Given the description of an element on the screen output the (x, y) to click on. 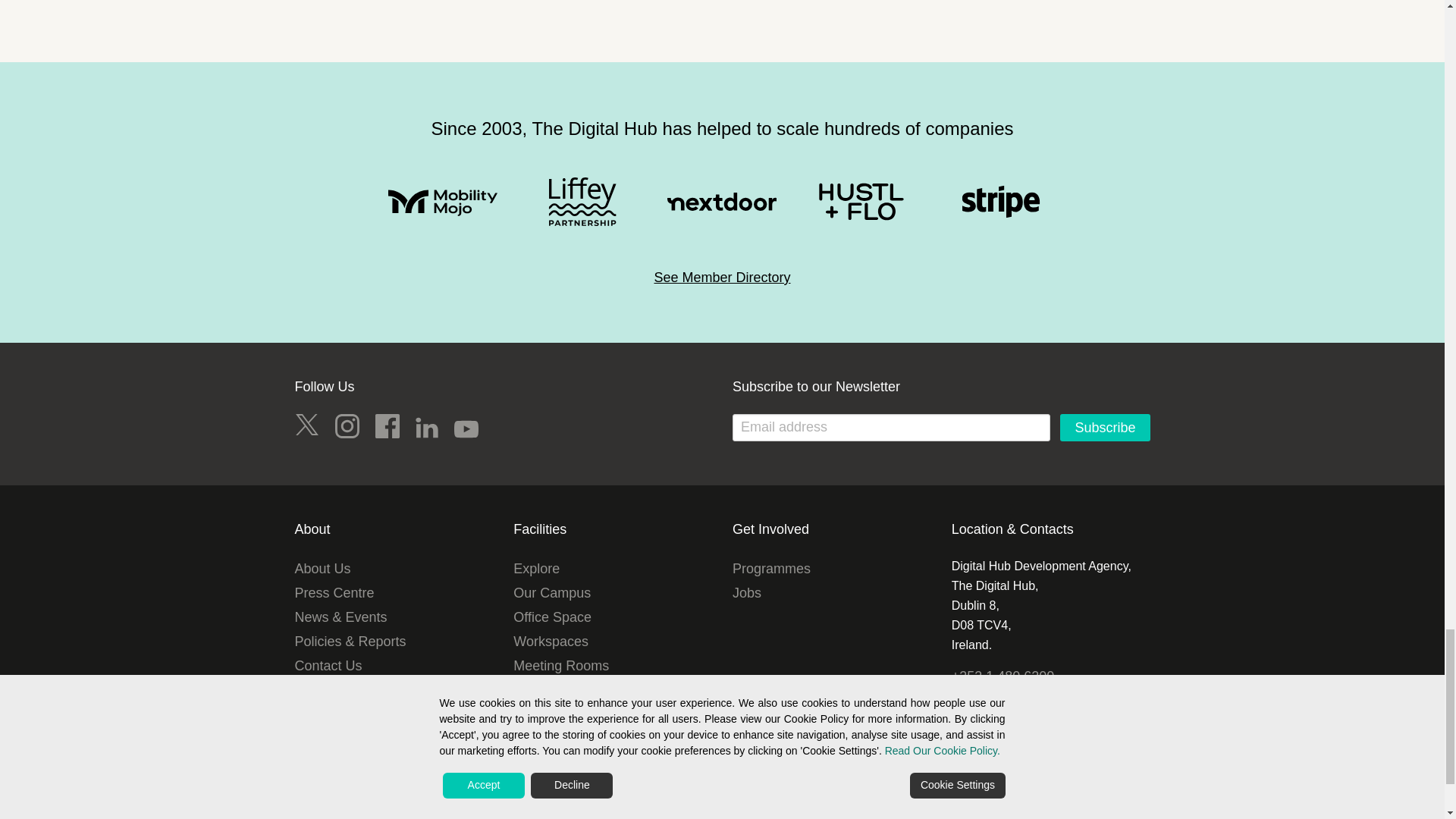
YouTube (466, 429)
Twitter X (306, 426)
Subscribe (1104, 427)
Facebook (386, 426)
Instagram (346, 426)
See Member Directory (721, 277)
LinkedIn (426, 427)
